Given the description of an element on the screen output the (x, y) to click on. 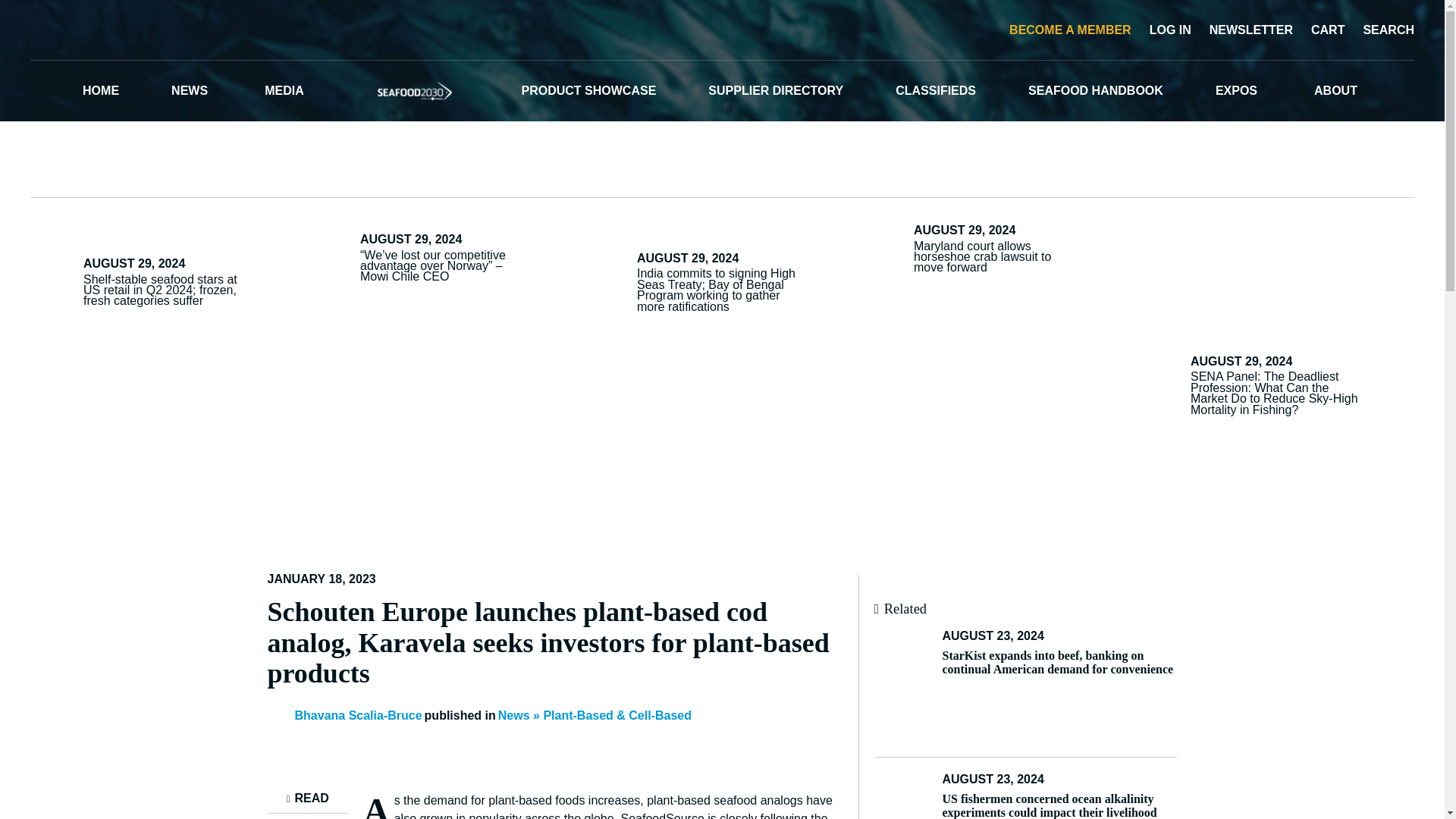
Subscribe to our newsletter (1248, 29)
Log in (1167, 29)
NEWSLETTER (1248, 29)
SeafoodSource (721, 30)
LOG IN (1167, 29)
BECOME A MEMBER (1067, 29)
PRODUCT SHOWCASE (588, 90)
SUPPLIER DIRECTORY (775, 90)
Your cart (1324, 29)
SEAFOOD HANDBOOK (1095, 90)
